Given the description of an element on the screen output the (x, y) to click on. 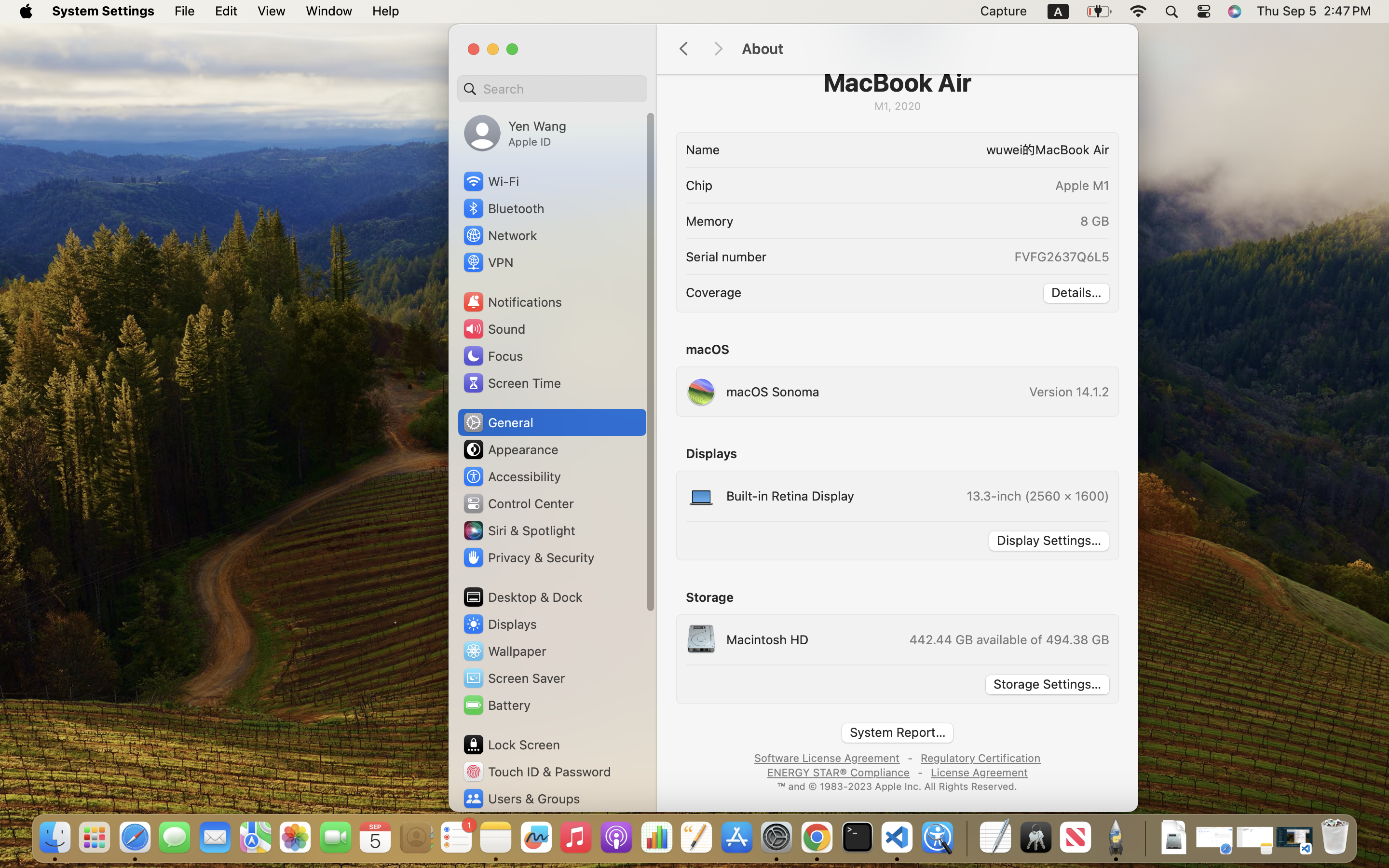
Yen Wang, Apple ID Element type: AXStaticText (514, 132)
Screen Time Element type: AXStaticText (511, 382)
Displays Element type: AXStaticText (499, 623)
Lock Screen Element type: AXStaticText (511, 744)
Chip Element type: AXStaticText (698, 184)
